Given the description of an element on the screen output the (x, y) to click on. 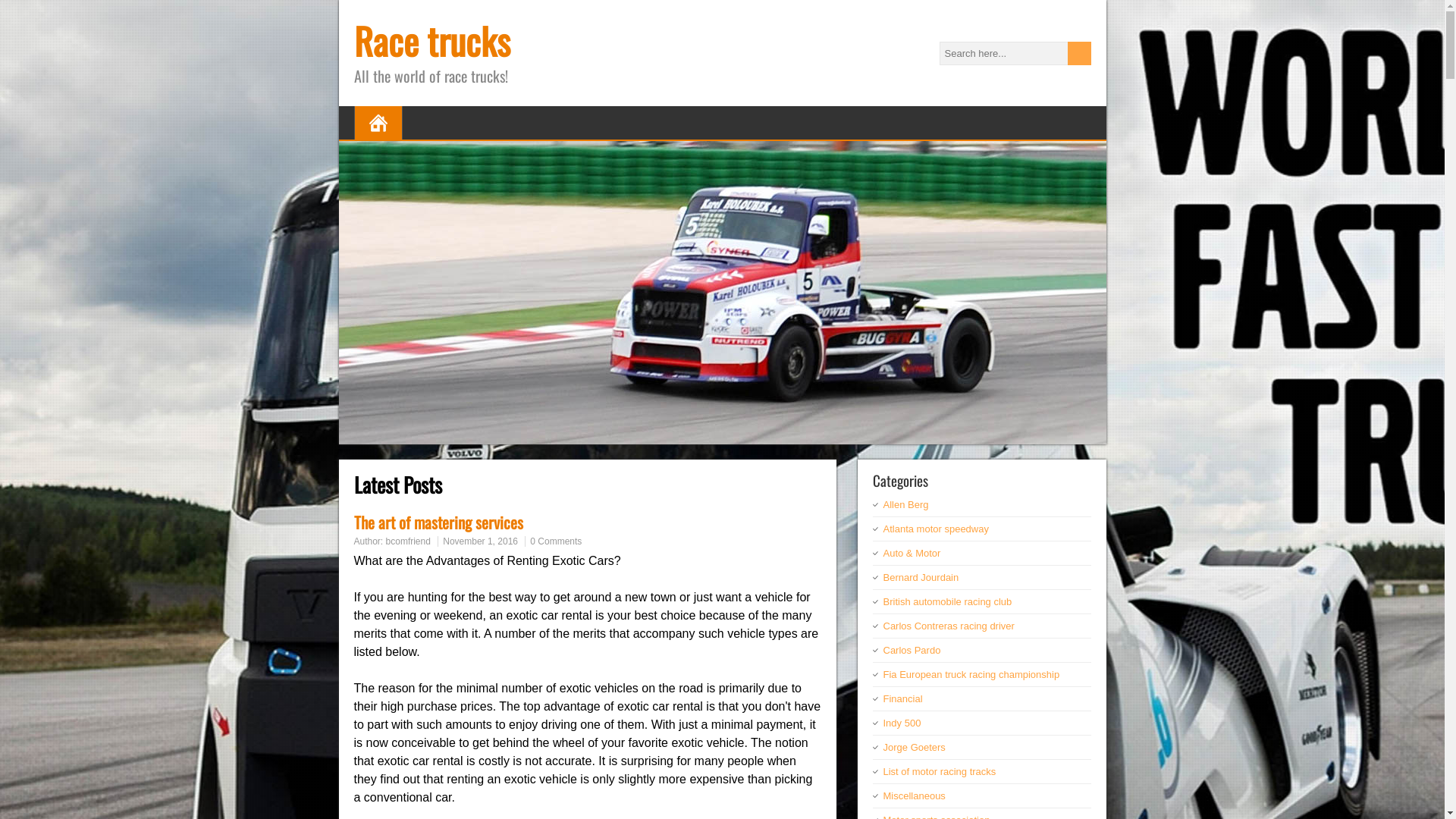
Atlanta motor speedway Element type: text (935, 528)
List of motor racing tracks Element type: text (938, 771)
The art of mastering services Element type: text (437, 521)
bcomfriend Element type: text (407, 541)
November 1, 2016 Element type: text (479, 541)
Auto & Motor Element type: text (911, 552)
Race trucks Element type: text (431, 40)
0 Comments Element type: text (555, 541)
British automobile racing club Element type: text (946, 601)
Bernard Jourdain Element type: text (920, 577)
Indy 500 Element type: text (901, 722)
Allen Berg Element type: text (905, 504)
Financial Element type: text (902, 698)
Jorge Goeters Element type: text (913, 747)
Fia European truck racing championship Element type: text (970, 674)
Carlos Pardo Element type: text (911, 649)
Miscellaneous Element type: text (913, 795)
Carlos Contreras racing driver Element type: text (947, 625)
